Given the description of an element on the screen output the (x, y) to click on. 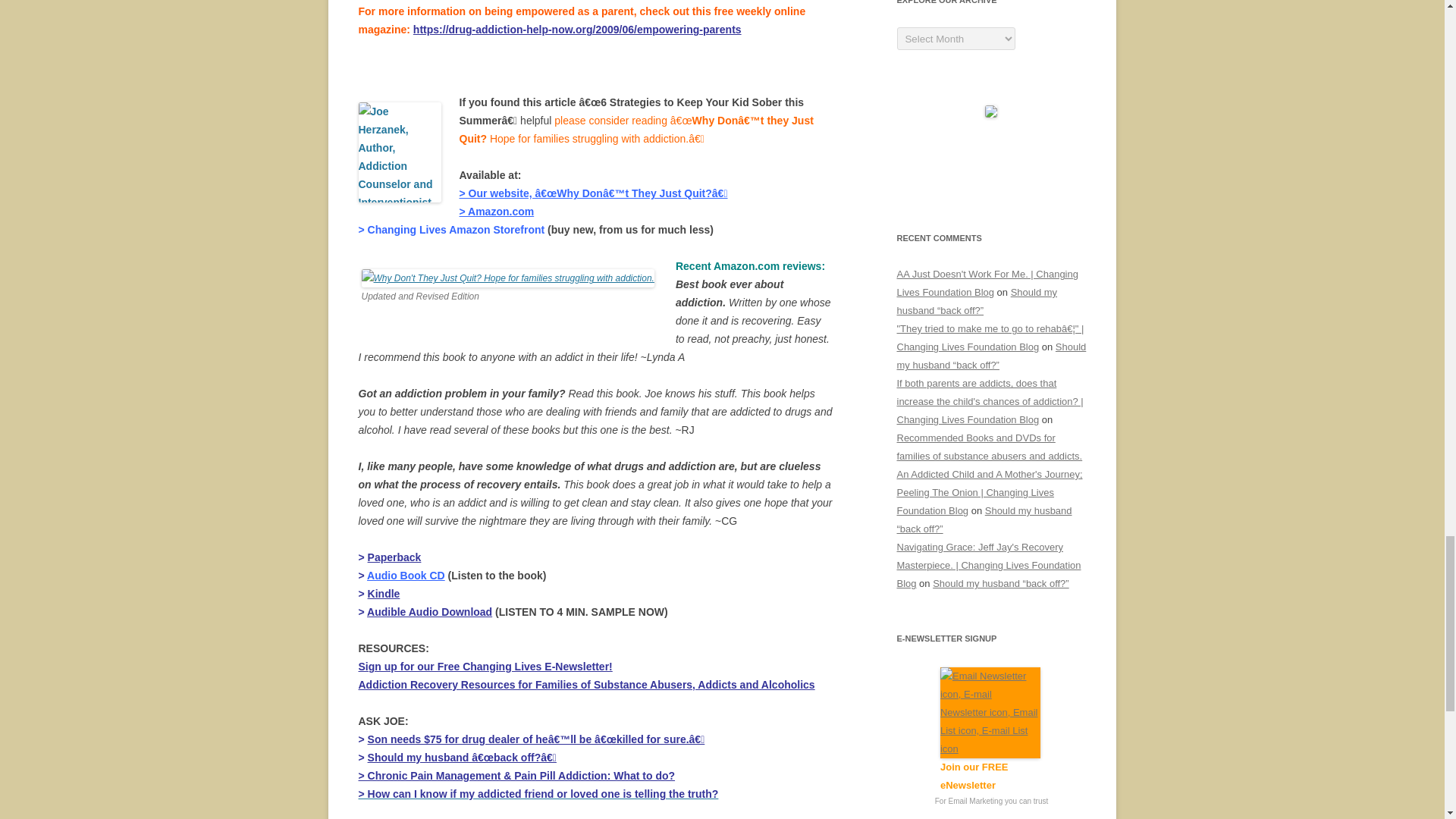
Kindle (384, 593)
Sign up for our Free Changing Lives E-Newsletter! (484, 666)
Audio Book CD (405, 575)
Audible Audio Download (429, 612)
Amazon Paperback (395, 557)
Paperback (395, 557)
Addiction Recovery Resources (585, 684)
